Given the description of an element on the screen output the (x, y) to click on. 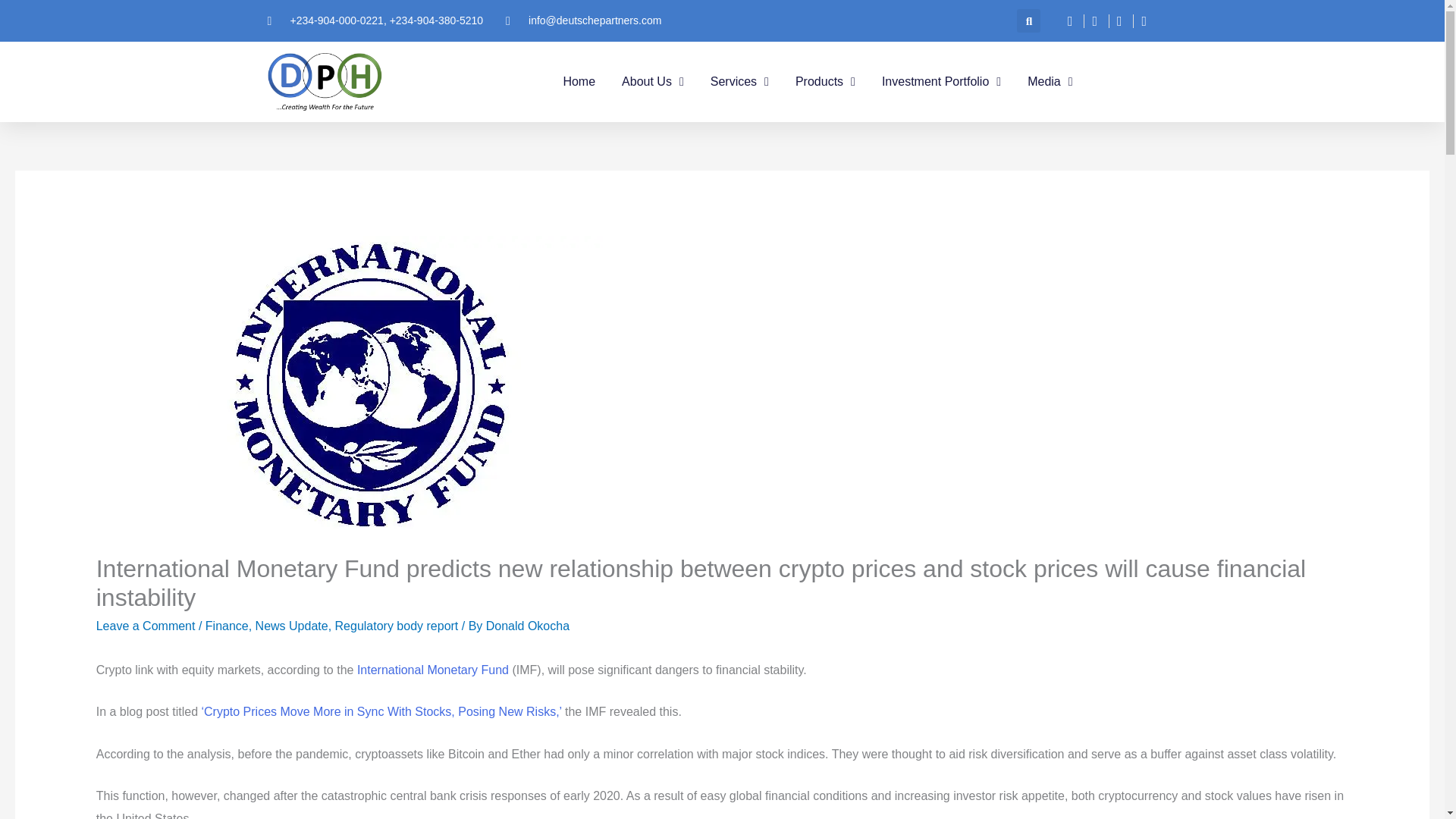
Services (739, 81)
View all posts by Donald Okocha (527, 625)
About Us (652, 81)
Products (825, 81)
Investment Portfolio (941, 81)
Media (1049, 81)
Home (578, 81)
